Given the description of an element on the screen output the (x, y) to click on. 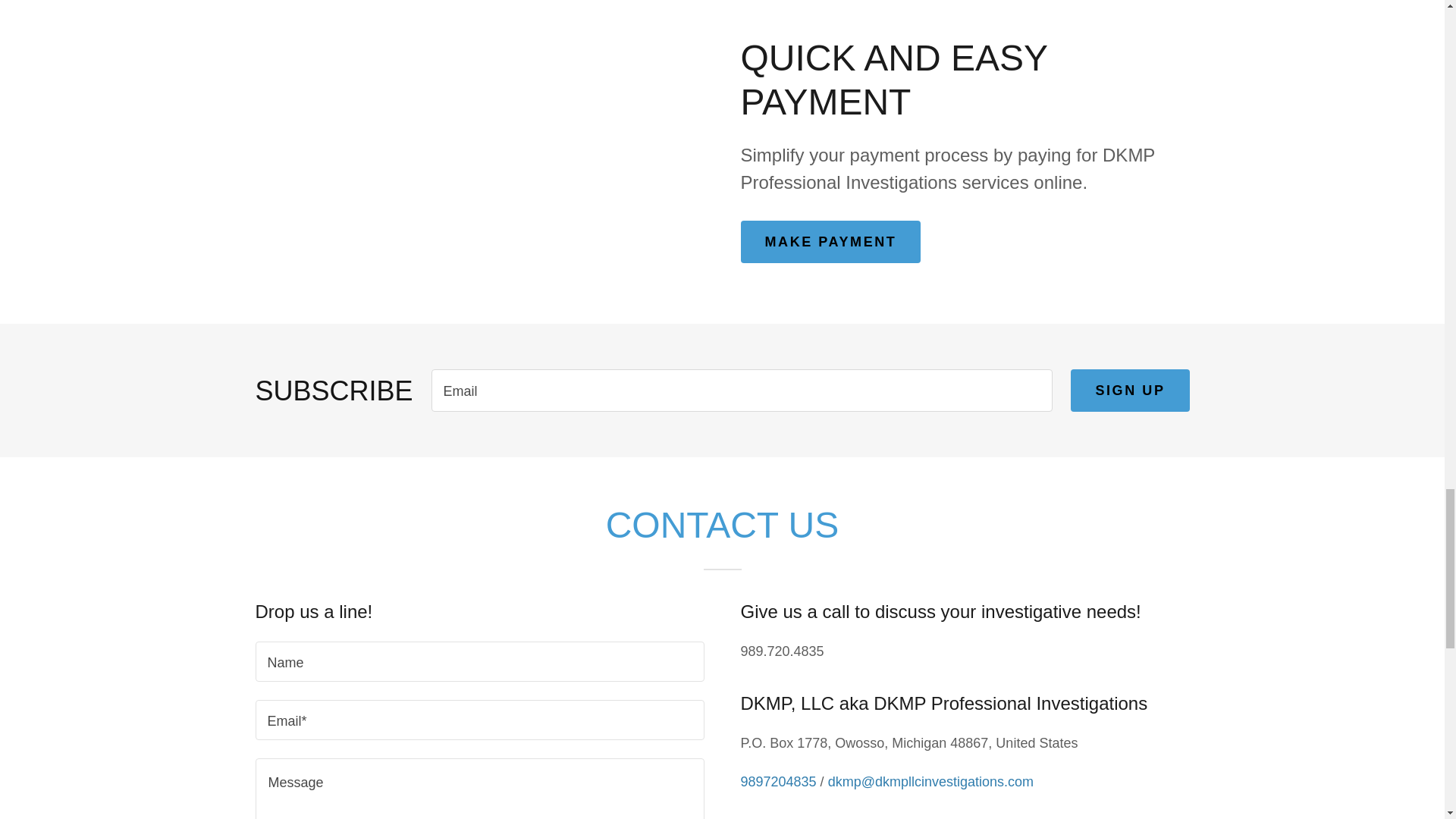
MAKE PAYMENT (829, 241)
SIGN UP (1129, 390)
9897204835 (777, 781)
